Given the description of an element on the screen output the (x, y) to click on. 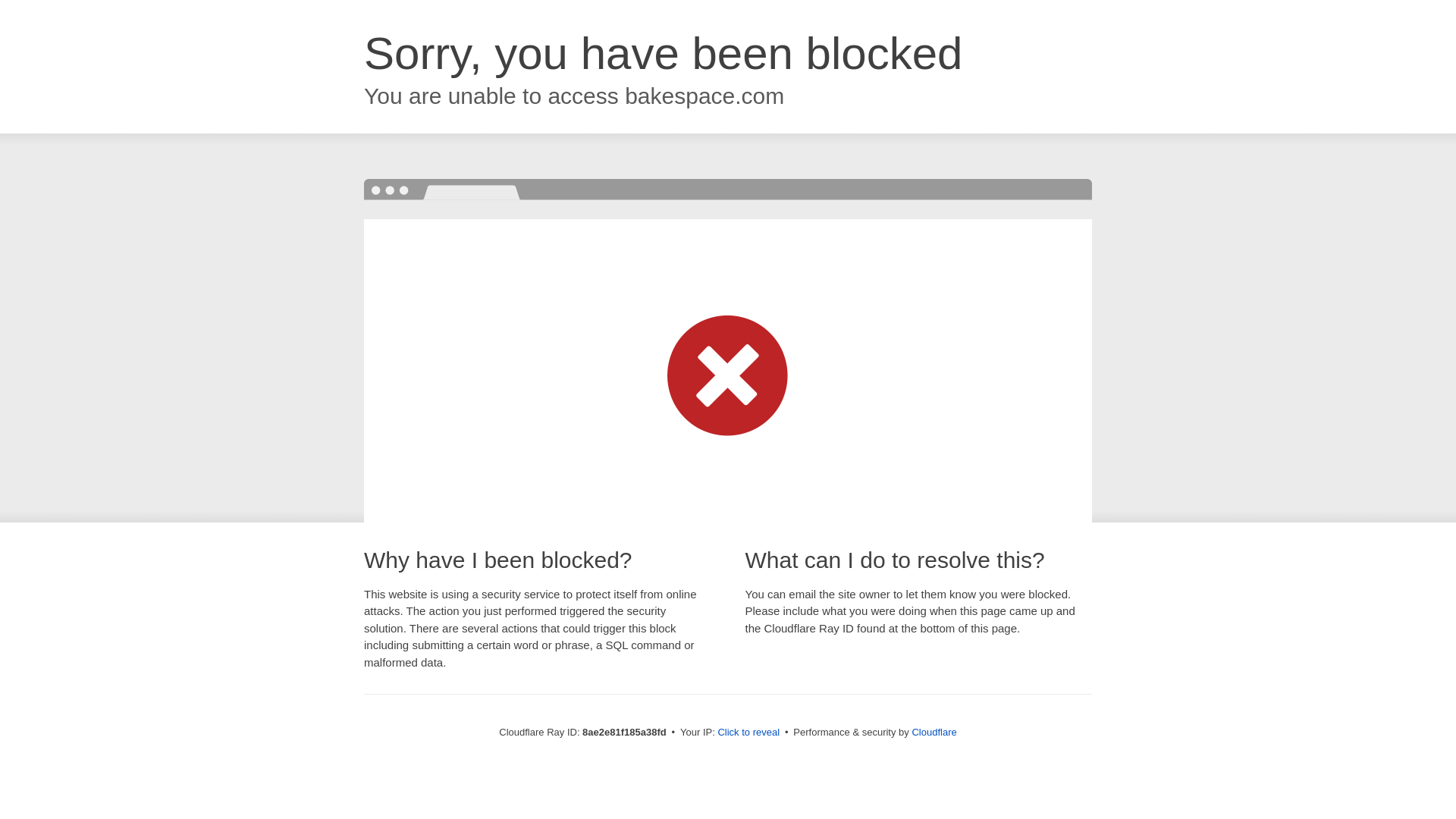
Cloudflare (933, 731)
Click to reveal (747, 732)
